Given the description of an element on the screen output the (x, y) to click on. 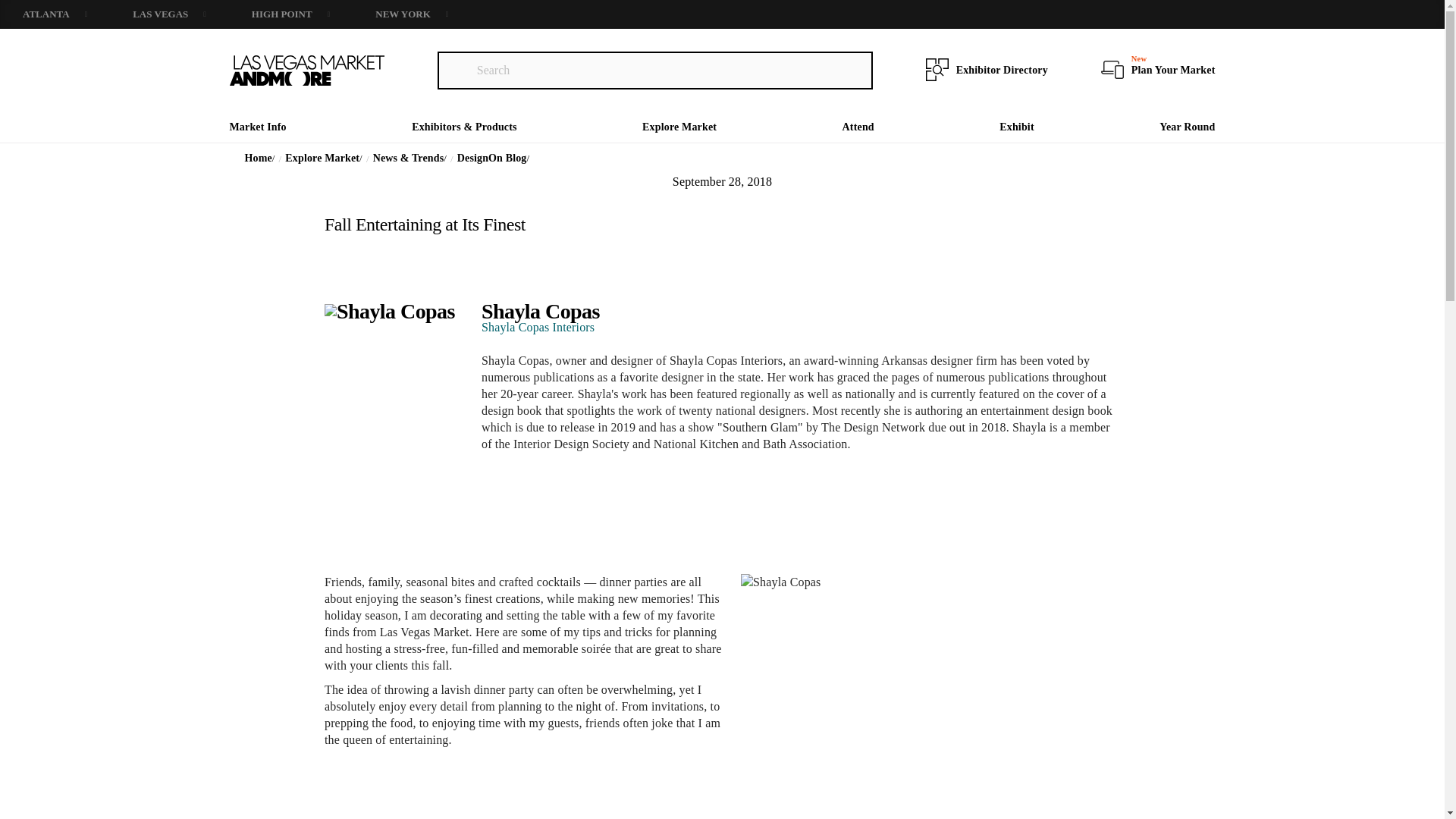
ATLANTA (55, 14)
Shayla Copas Interiors (537, 327)
Explore Market (323, 157)
Year Round (1186, 126)
Plan Your Market (1146, 69)
Clear SearchClear the Search Form (455, 70)
Clear SearchClear the search form. (855, 70)
NEW YORK (411, 14)
Plan Your Market (1173, 70)
Attend (859, 126)
